Given the description of an element on the screen output the (x, y) to click on. 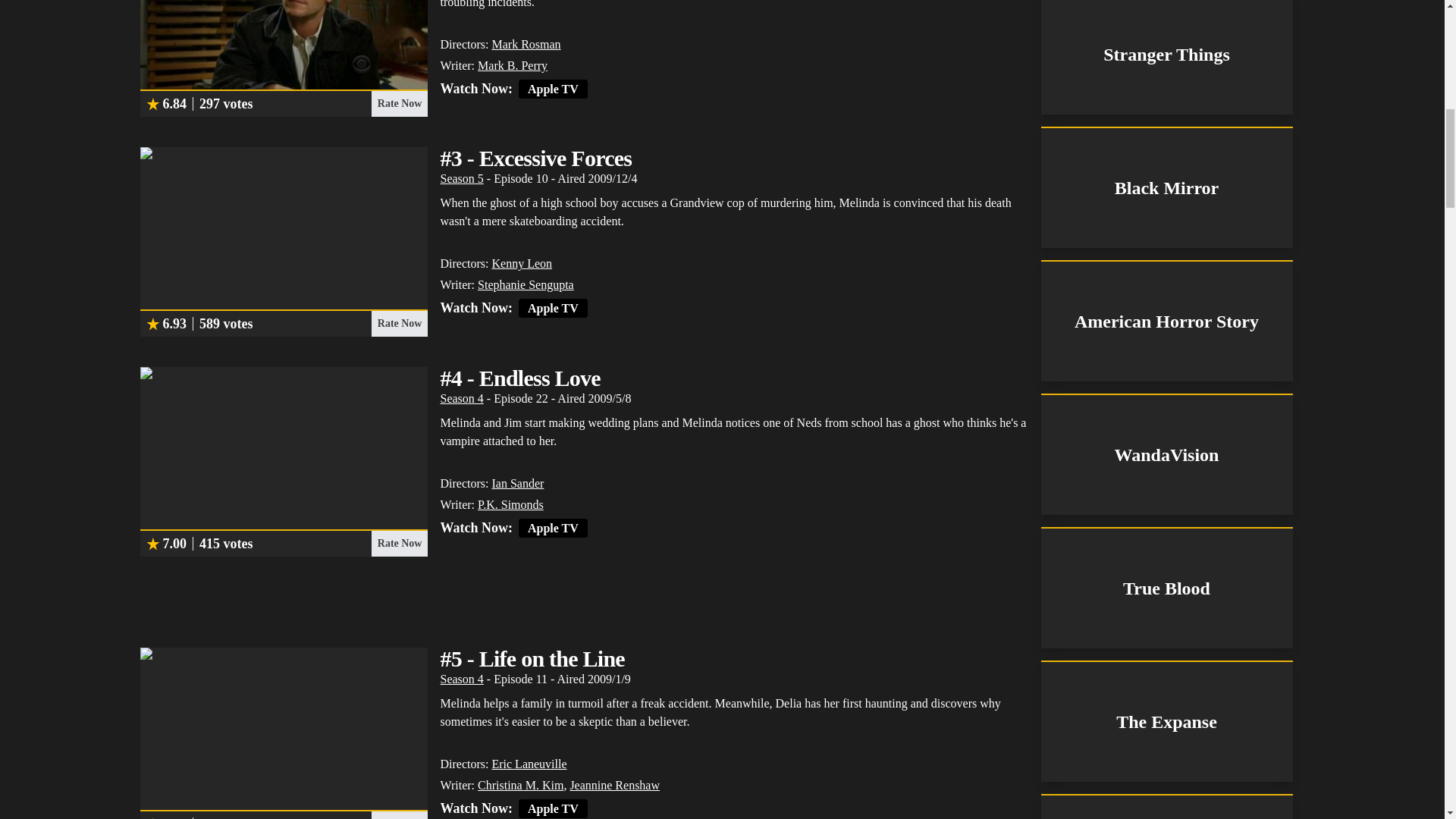
P.K. Simonds (510, 504)
Mark Rosman (526, 43)
Mark B. Perry (512, 65)
Rate Now (399, 323)
Season 5 (461, 178)
Christina M. Kim (520, 784)
Jeannine Renshaw (614, 784)
Season 4 (461, 678)
Ian Sander (517, 482)
Season 4 (461, 398)
Apple TV (553, 527)
Stephanie Sengupta (525, 284)
Kenny Leon (521, 263)
Apple TV (553, 808)
Rate Now (399, 543)
